Given the description of an element on the screen output the (x, y) to click on. 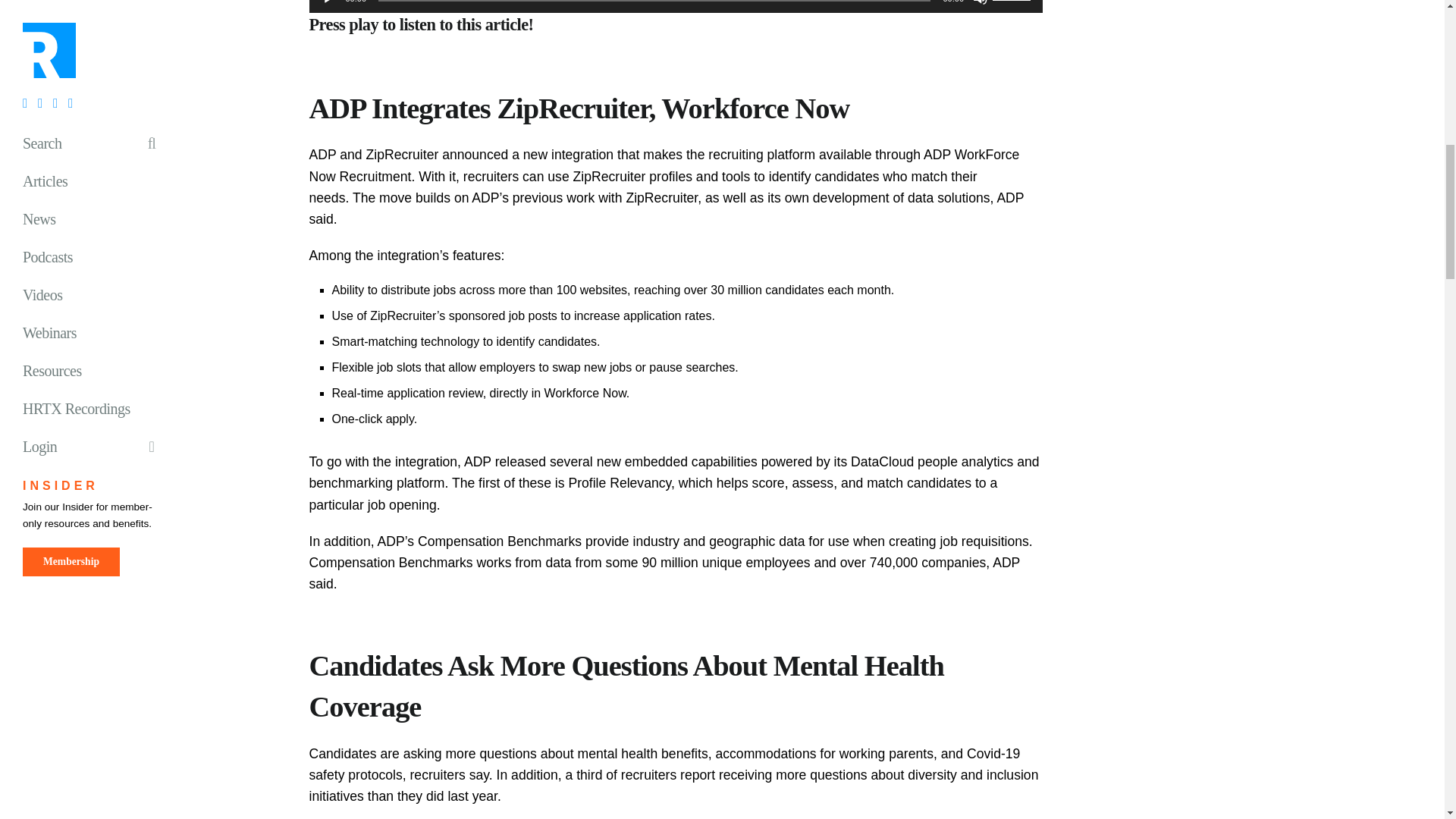
Mute (980, 2)
Play (328, 2)
